Given the description of an element on the screen output the (x, y) to click on. 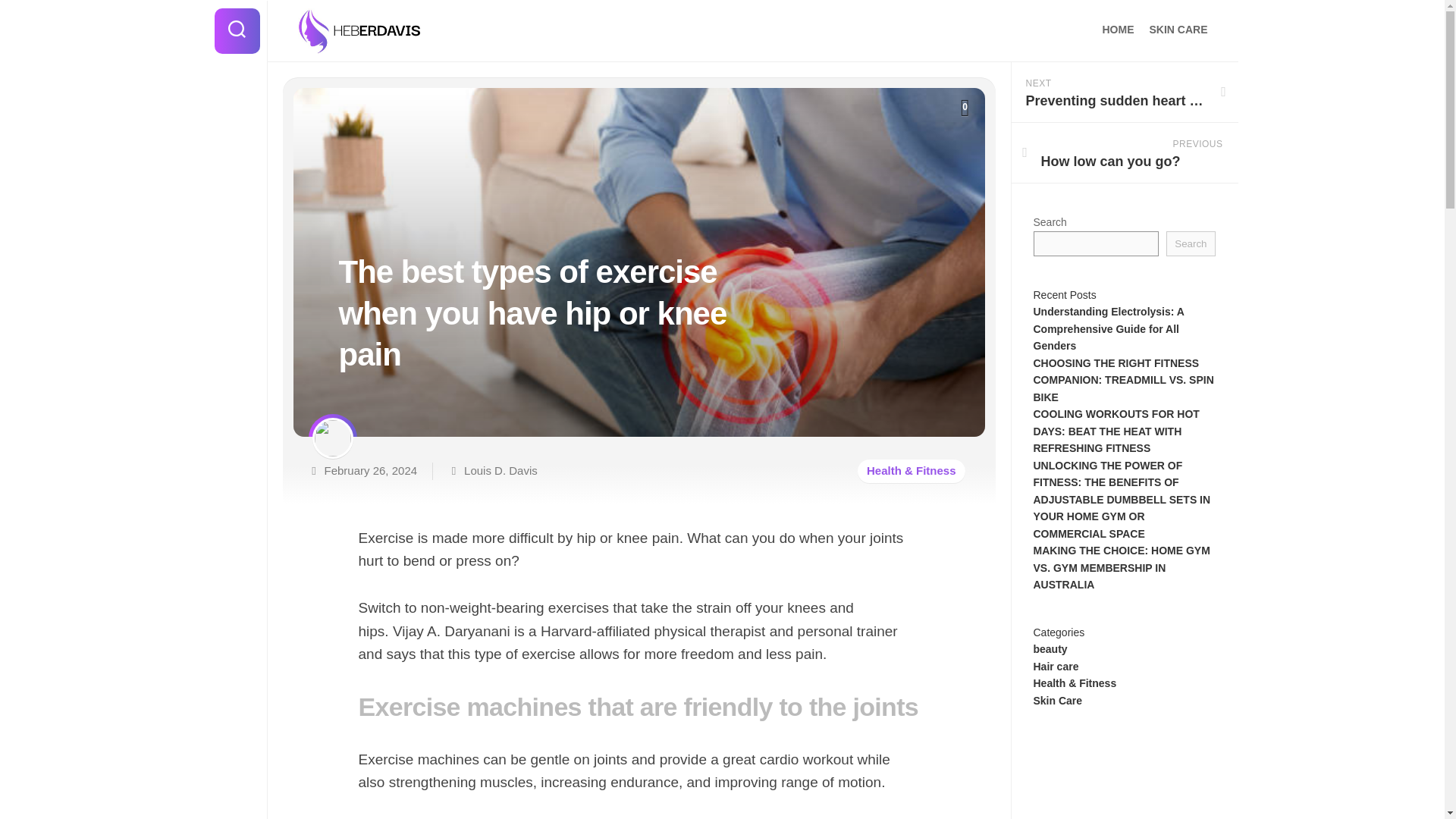
beauty (1049, 648)
MAKING THE CHOICE: HOME GYM VS. GYM MEMBERSHIP IN AUSTRALIA (1120, 567)
HOME (1123, 152)
0 (751, 31)
Posts by Louis D. Davis (1118, 29)
Hair care (964, 107)
